Given the description of an element on the screen output the (x, y) to click on. 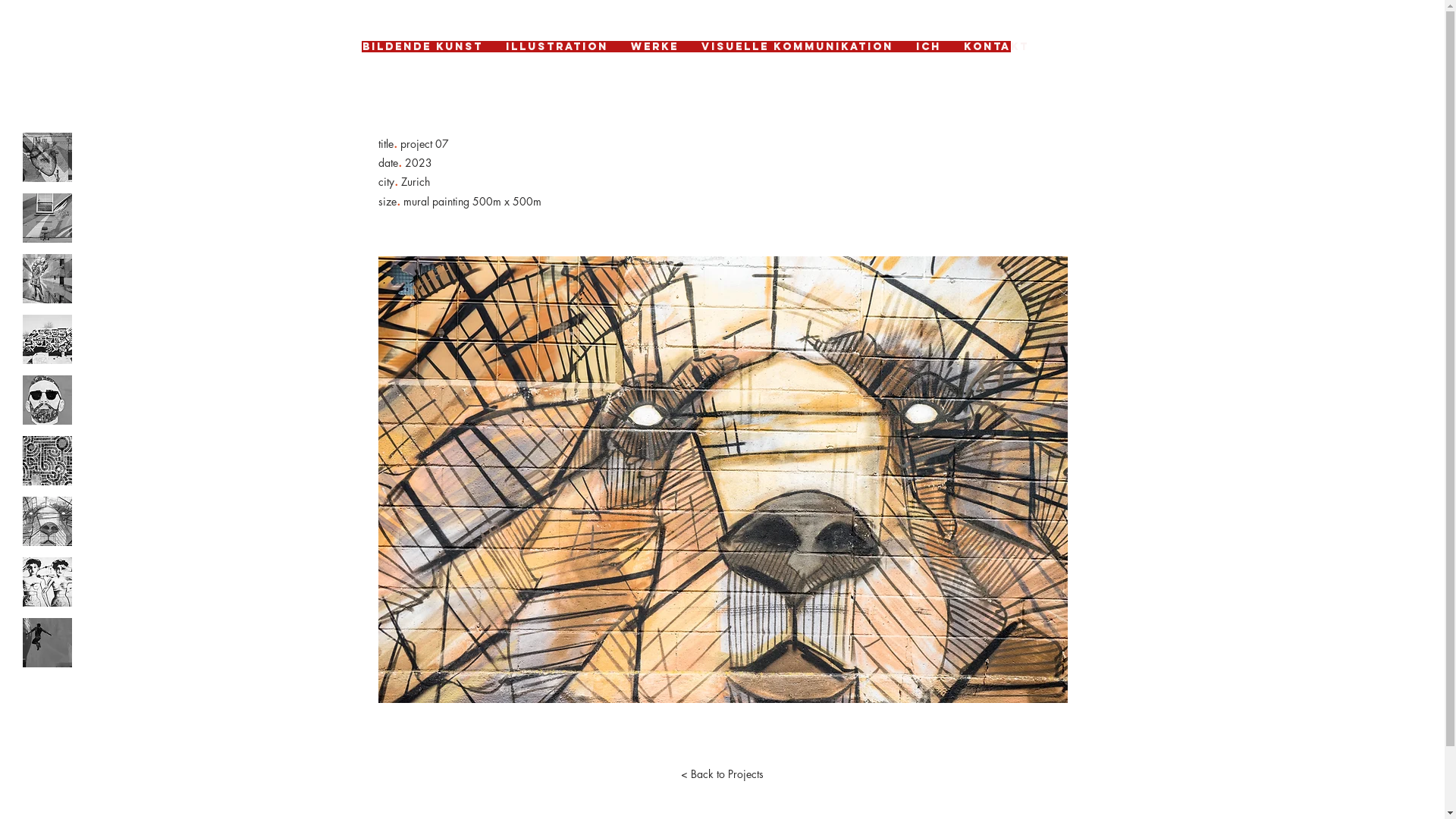
< Back to Projects Element type: text (722, 774)
ICH Element type: text (927, 46)
ILLUSTRATION Element type: text (556, 46)
VISUELLE KOMMUNIKATION Element type: text (797, 46)
KONTAKT Element type: text (996, 46)
BILDENDE KUNST Element type: text (421, 46)
WERKE Element type: text (653, 46)
